Given the description of an element on the screen output the (x, y) to click on. 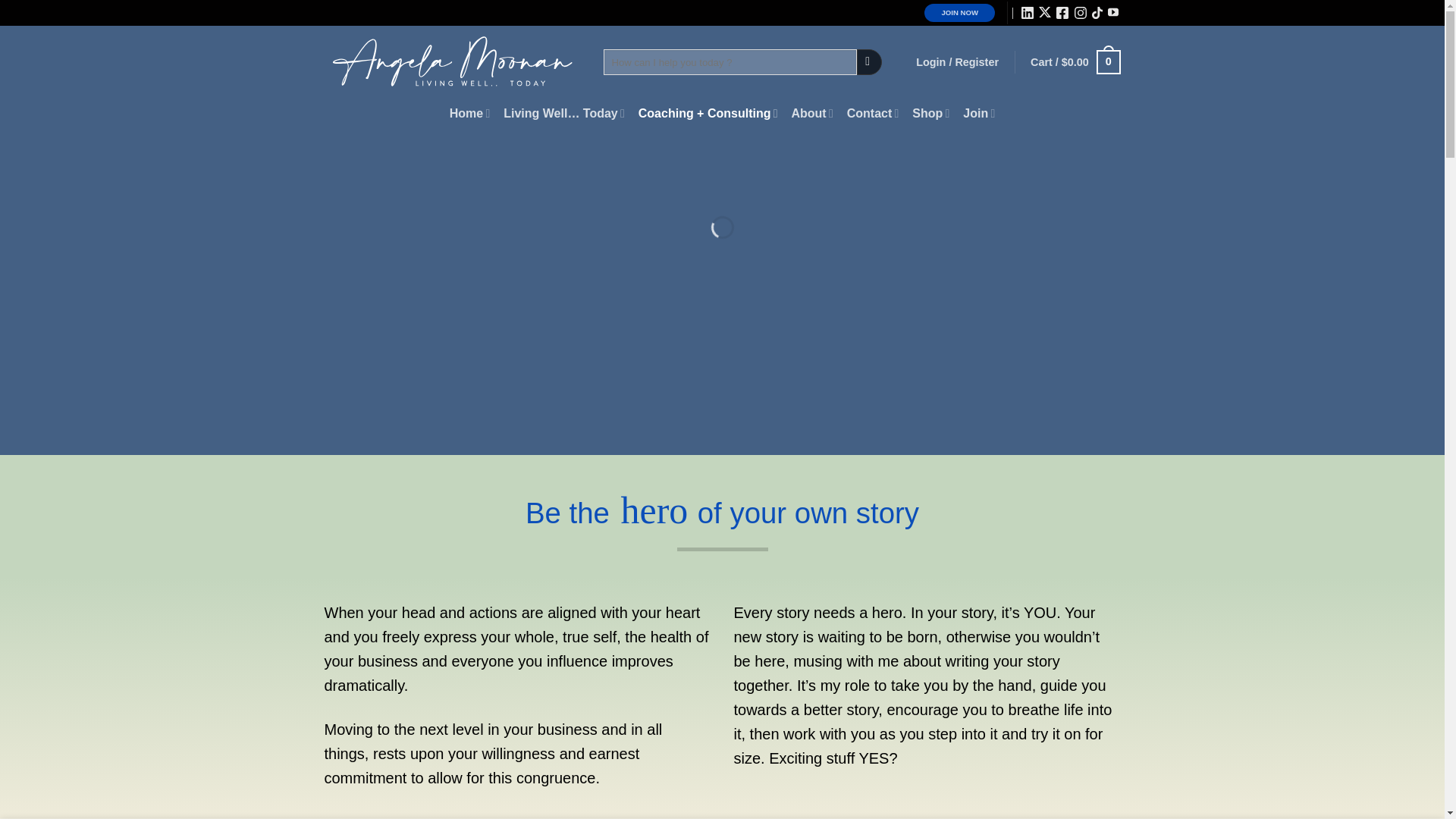
Home (469, 112)
Search (869, 62)
About (811, 112)
Cart (1075, 62)
JOIN NOW (959, 12)
